Given the description of an element on the screen output the (x, y) to click on. 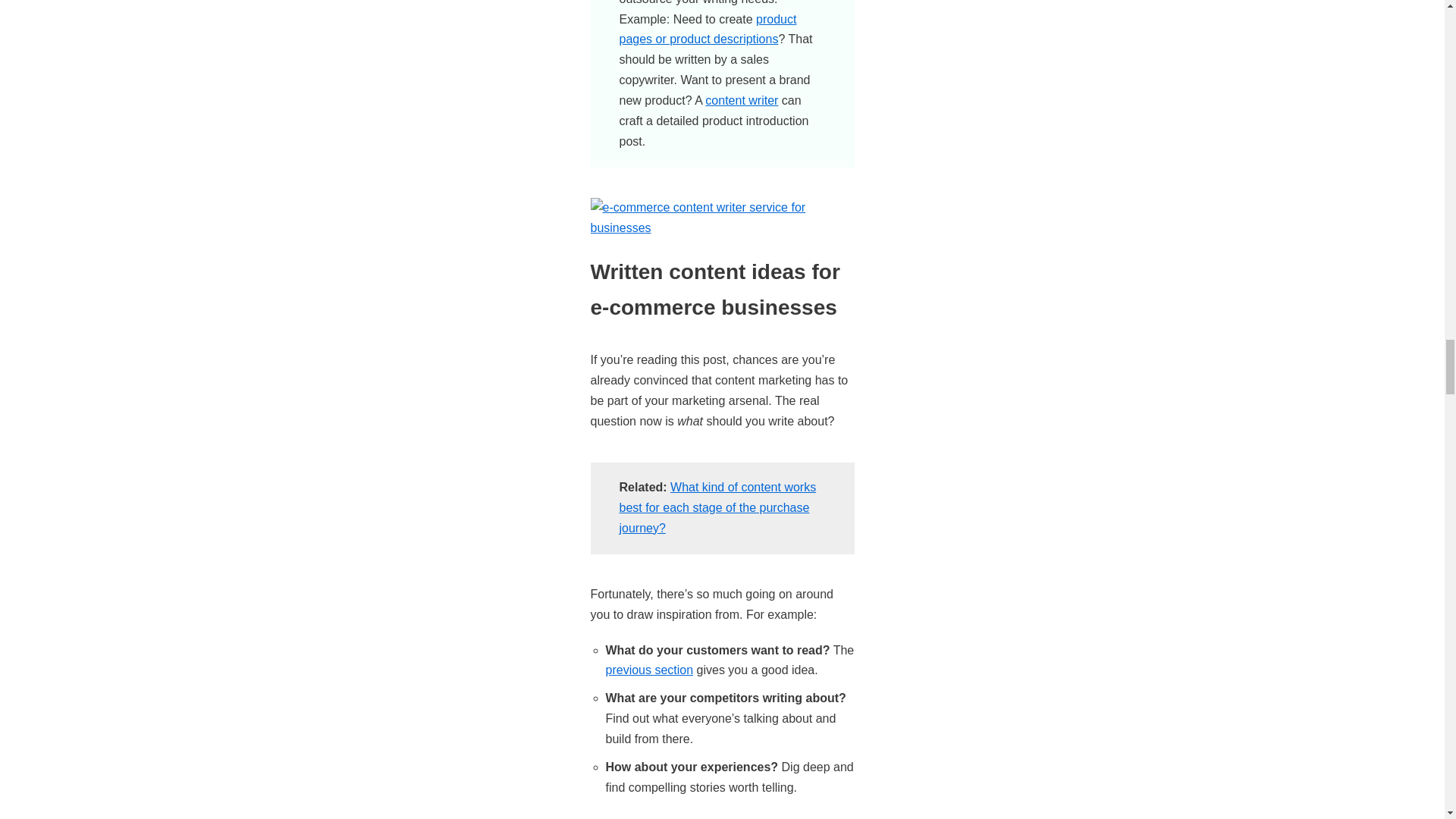
content writer (740, 100)
previous section (649, 669)
product pages or product descriptions (707, 29)
